Given the description of an element on the screen output the (x, y) to click on. 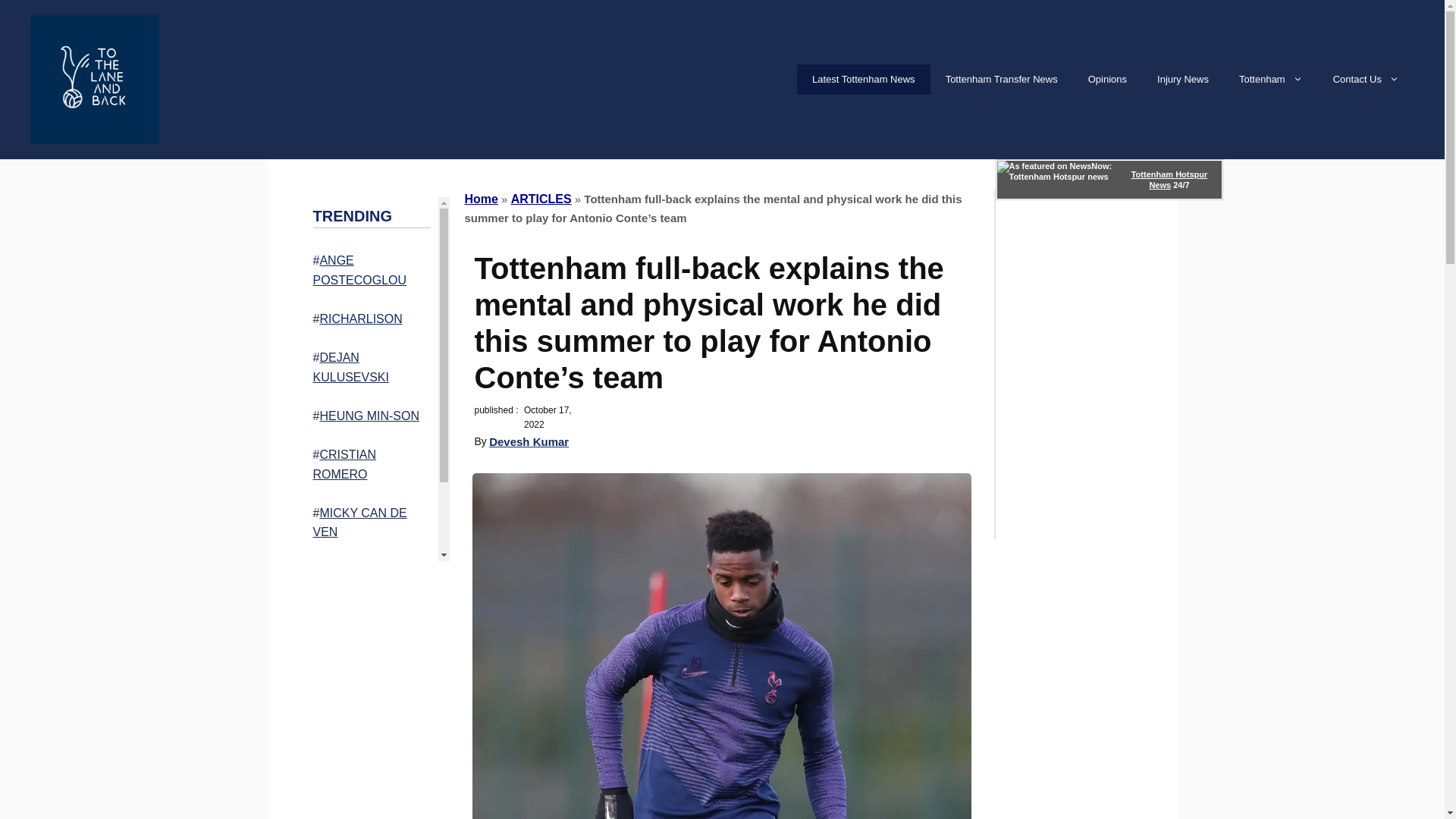
DEJAN KULUSEVSKI (350, 367)
Tottenham (1270, 79)
Click here for more Tottenham Hotspur news from NewsNow (1108, 178)
Latest Tottenham News (863, 79)
CRISTIAN ROMERO (344, 463)
Injury News (1182, 79)
ARTICLES (541, 198)
Devesh Kumar (529, 440)
Opinions (1107, 79)
HEUNG MIN-SON (368, 415)
RICHARLISON (359, 318)
Contact Us (1365, 79)
Tottenham Transfer News (1001, 79)
ANGE POSTECOGLOU (359, 269)
MICKY CAN DE VEN (359, 522)
